Given the description of an element on the screen output the (x, y) to click on. 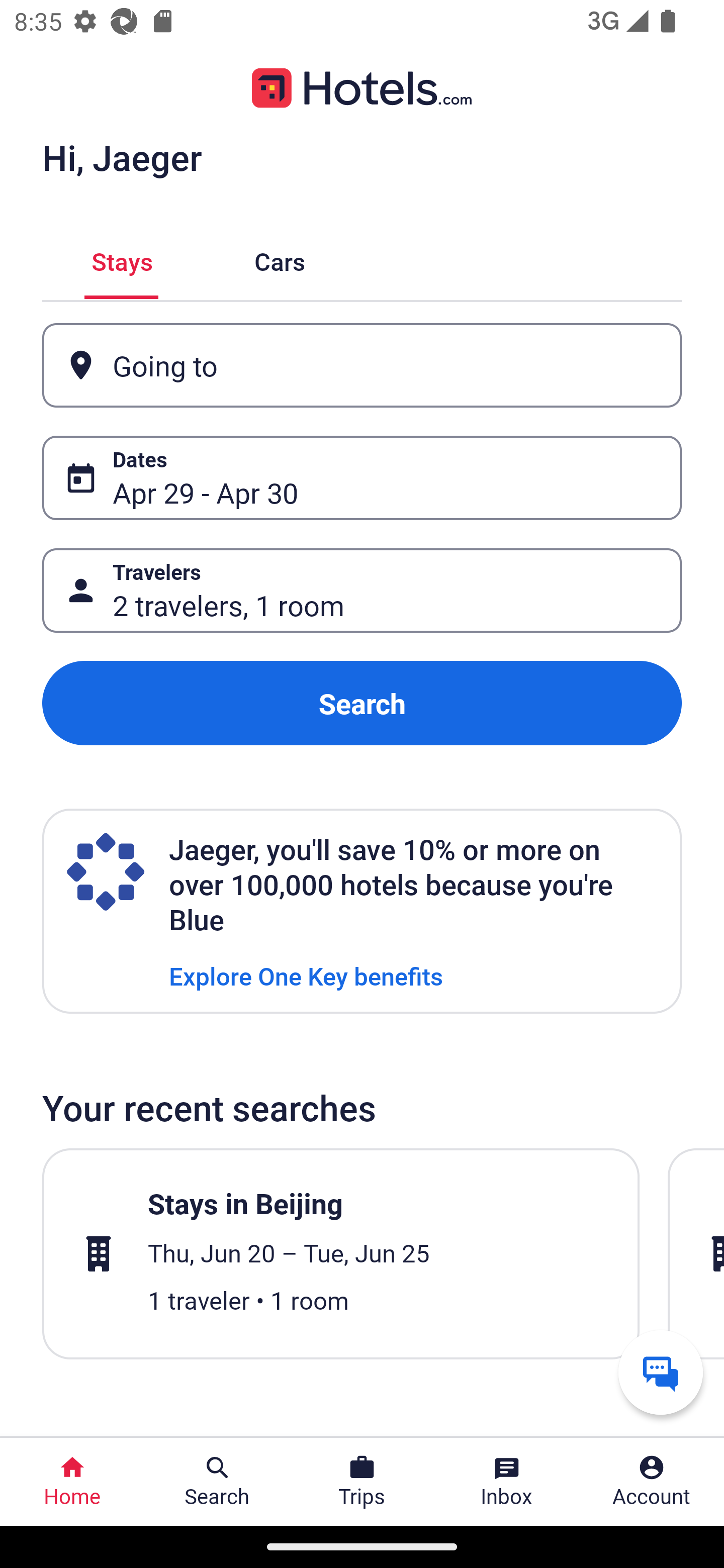
Hi, Jaeger (121, 156)
Cars (279, 259)
Going to Button (361, 365)
Dates Button Apr 29 - Apr 30 (361, 477)
Travelers Button 2 travelers, 1 room (361, 590)
Search (361, 702)
Get help from a virtual agent (660, 1371)
Search Search Button (216, 1481)
Trips Trips Button (361, 1481)
Inbox Inbox Button (506, 1481)
Account Profile. Button (651, 1481)
